Given the description of an element on the screen output the (x, y) to click on. 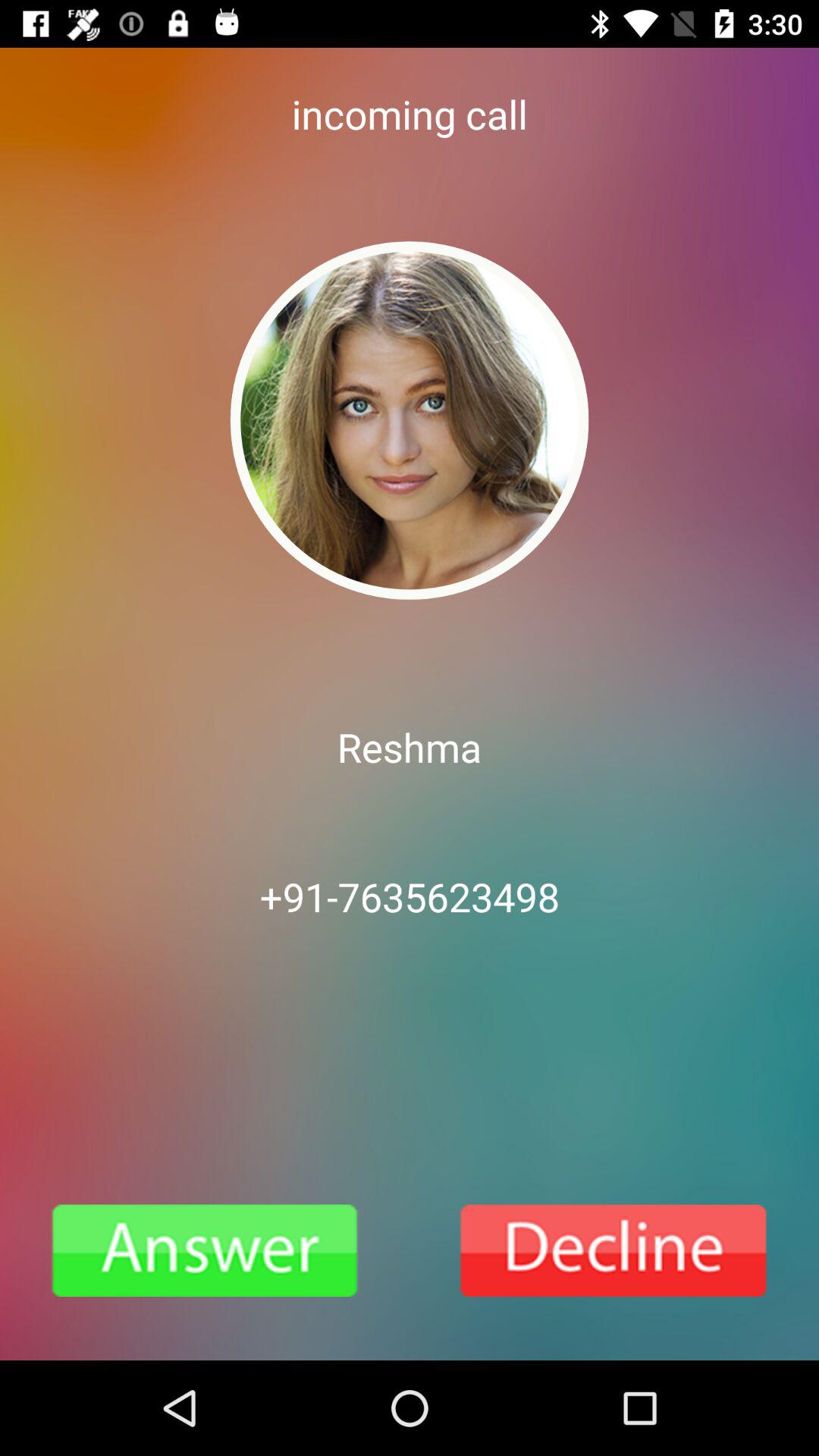
go to attern the phone call (204, 1250)
